Given the description of an element on the screen output the (x, y) to click on. 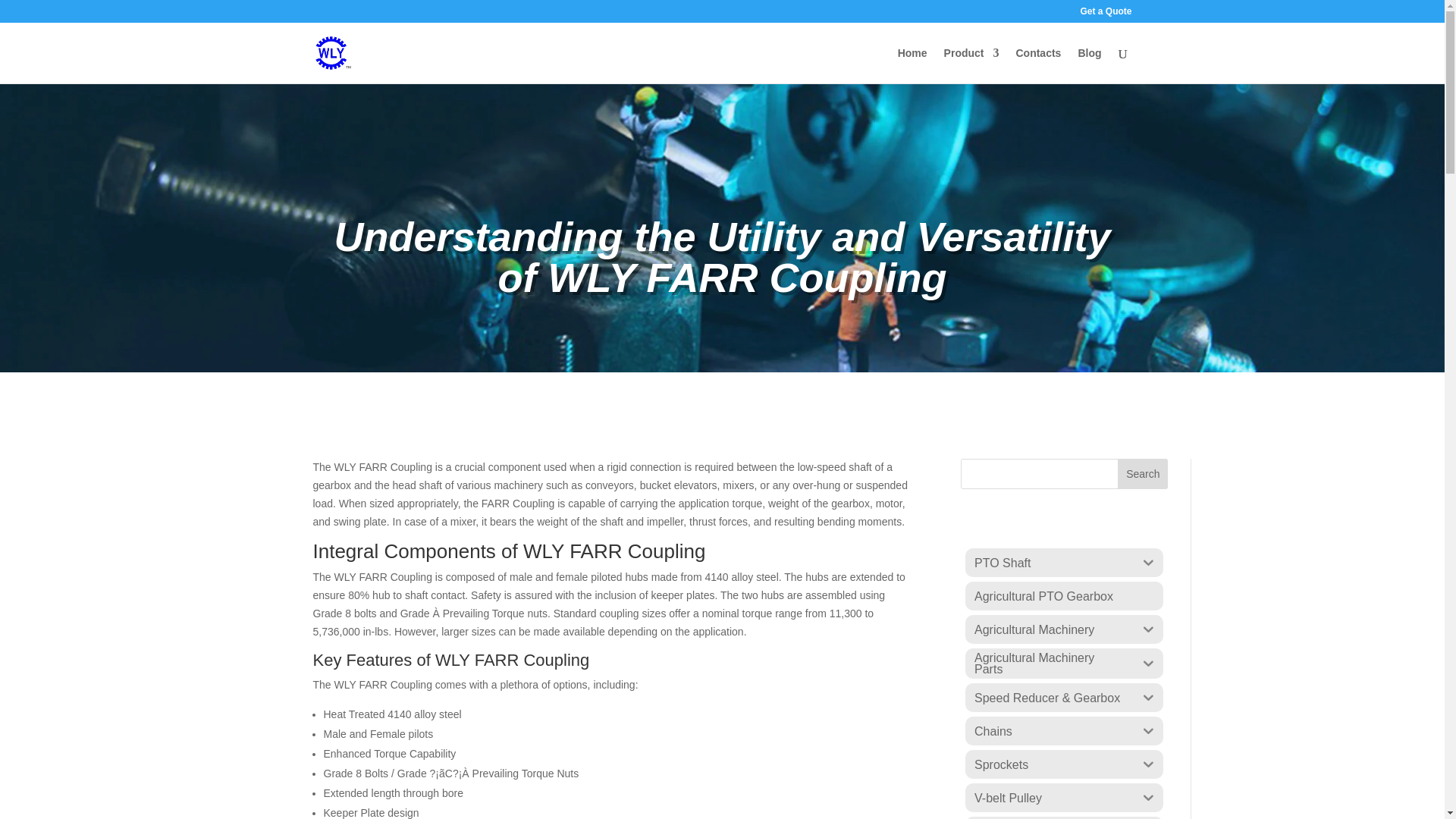
Get a Quote (1105, 14)
Search (1142, 473)
Product (970, 65)
Contacts (1037, 65)
